Given the description of an element on the screen output the (x, y) to click on. 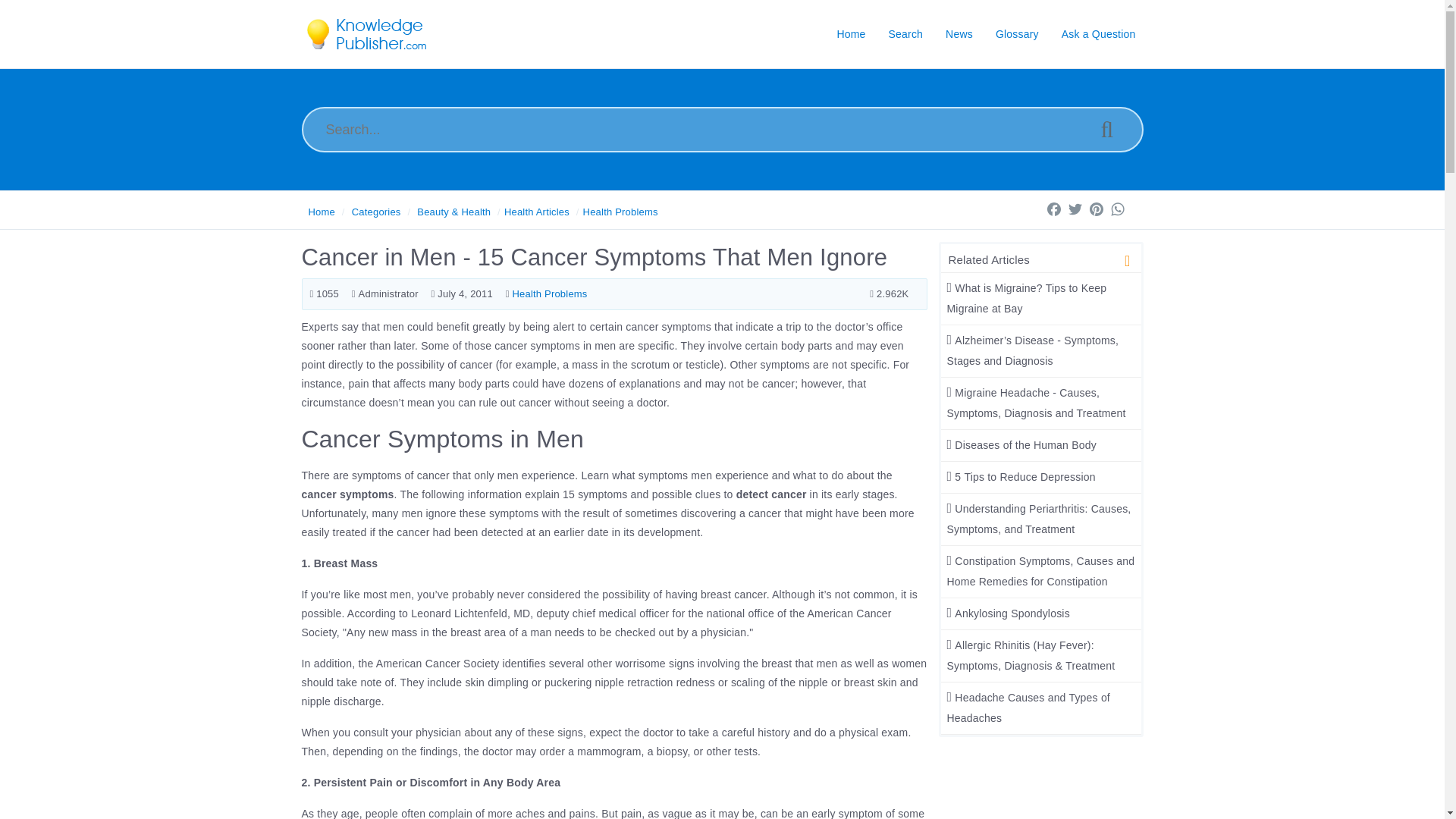
Health Problems (620, 211)
Facebook (1053, 208)
Posted Under (546, 293)
Health Articles (536, 211)
Ask a Question (1098, 33)
LinkedIn (1139, 208)
Diseases of the Human Body (1021, 444)
Twitter (1075, 208)
Pinterest (1096, 208)
Ankylosing Spondylosis (1007, 613)
